Given the description of an element on the screen output the (x, y) to click on. 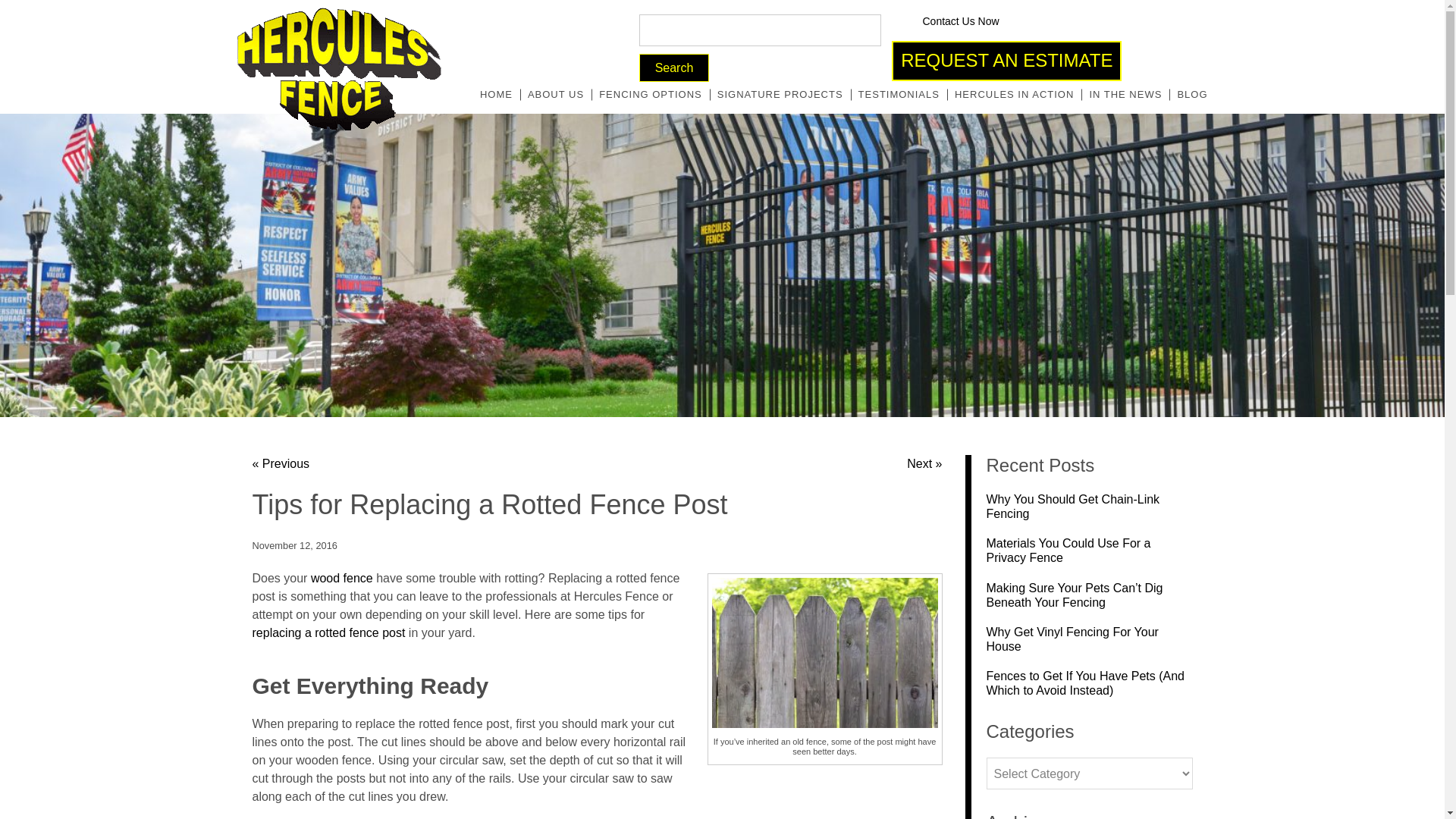
REQUEST AN ESTIMATE (1006, 60)
SIGNATURE PROJECTS (780, 94)
HERCULES IN ACTION (1014, 94)
FENCING OPTIONS (650, 94)
HOME (495, 94)
BLOG (1191, 94)
Contact Us Now (947, 20)
Search (674, 67)
IN THE NEWS (1125, 94)
TESTIMONIALS (898, 94)
Hercules Fence (338, 69)
ABOUT US (555, 94)
Search (674, 67)
